Given the description of an element on the screen output the (x, y) to click on. 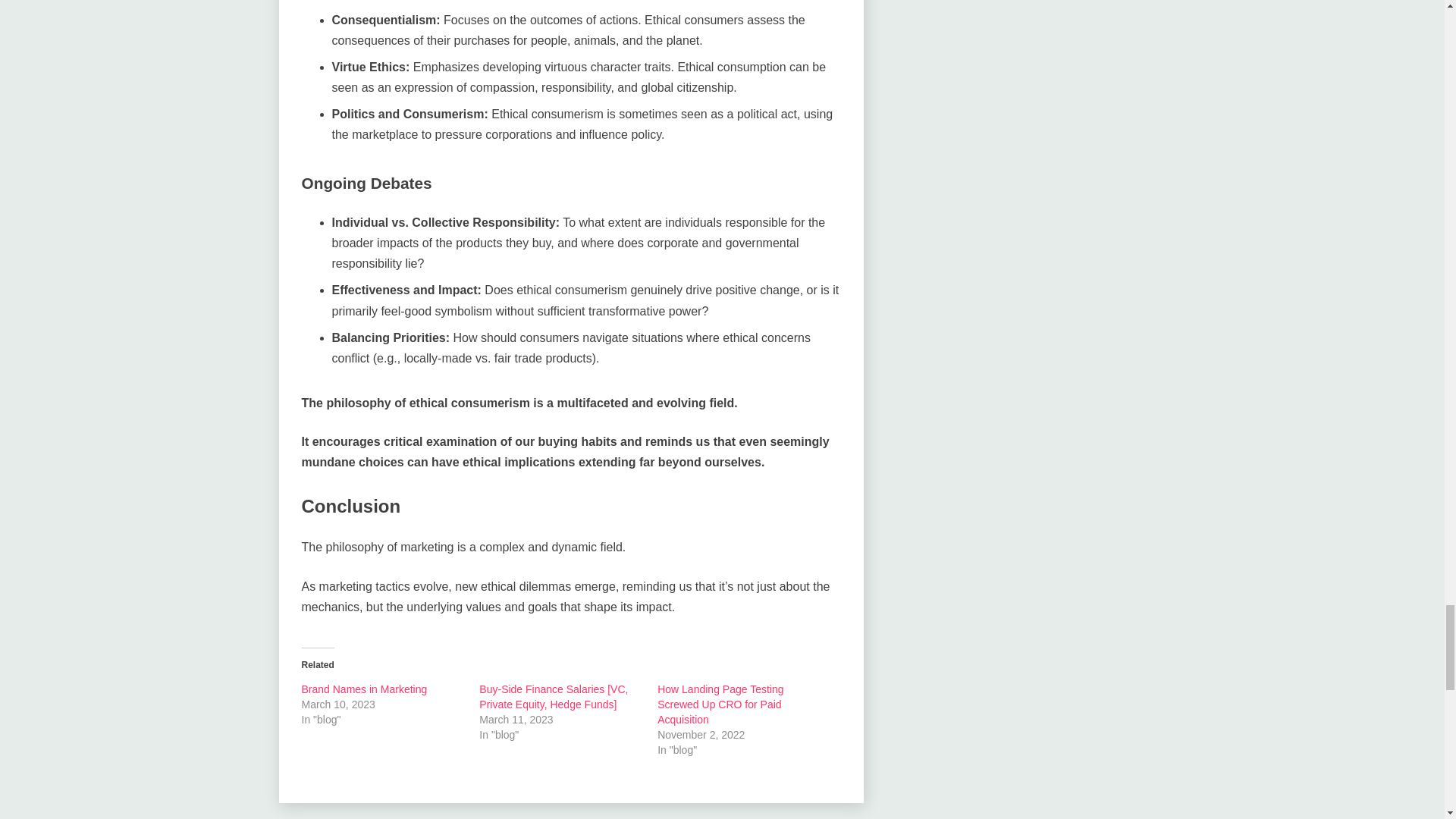
How Landing Page Testing Screwed Up CRO for Paid Acquisition (720, 704)
How Landing Page Testing Screwed Up CRO for Paid Acquisition (720, 704)
Brand Names in Marketing (364, 689)
Brand Names in Marketing (364, 689)
